Given the description of an element on the screen output the (x, y) to click on. 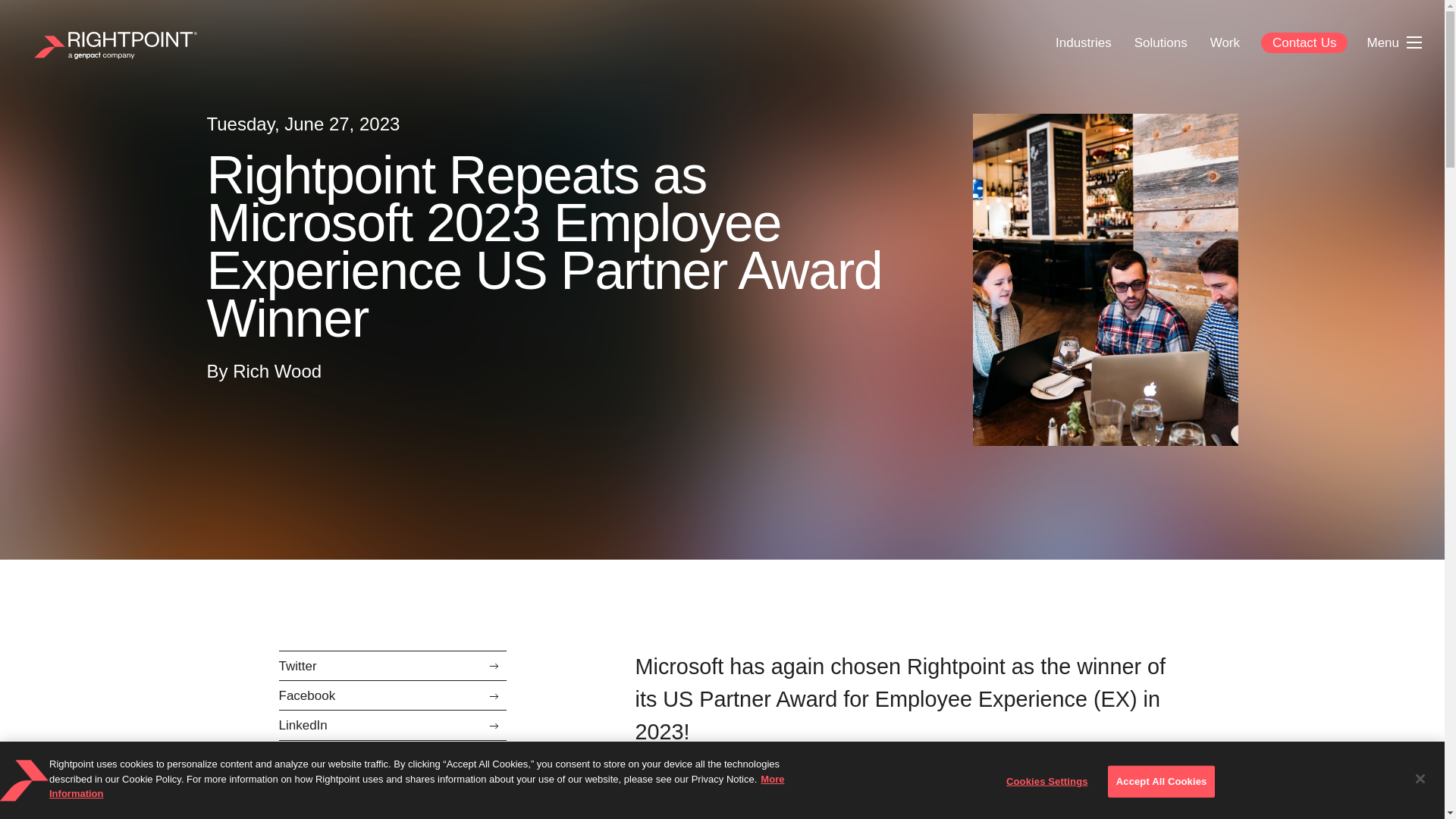
Company Logo (24, 779)
E-mail (392, 755)
Menu (1385, 42)
Industries (1082, 42)
Menu (1394, 42)
Facebook (392, 695)
Contact (1304, 42)
Solutions (1160, 42)
Cookies Settings (1046, 781)
Accept All Cookies (1161, 781)
More Information (416, 786)
LinkedIn (392, 724)
Work (1224, 42)
Twitter (392, 664)
